Given the description of an element on the screen output the (x, y) to click on. 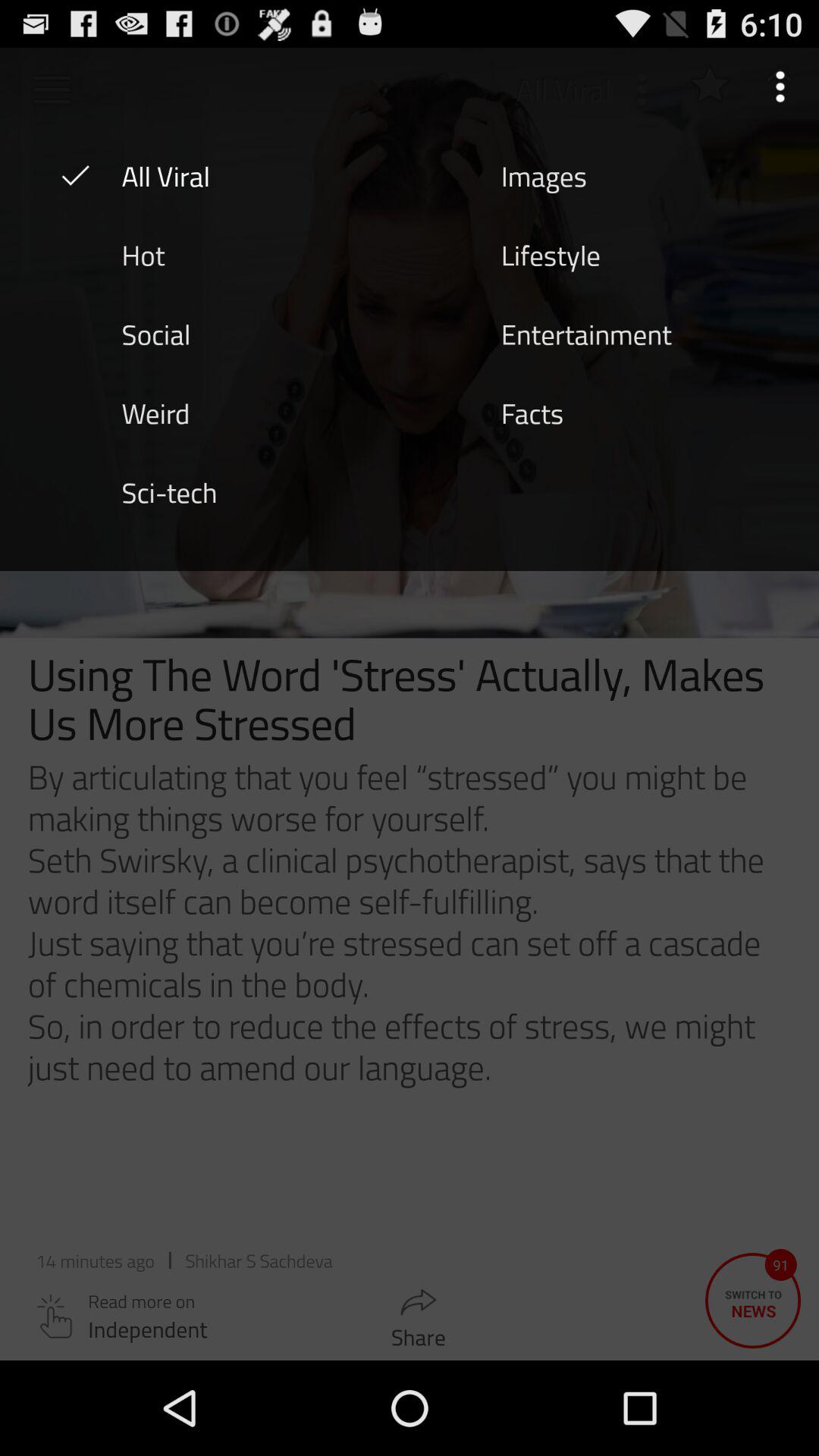
tap item above hot (165, 174)
